Given the description of an element on the screen output the (x, y) to click on. 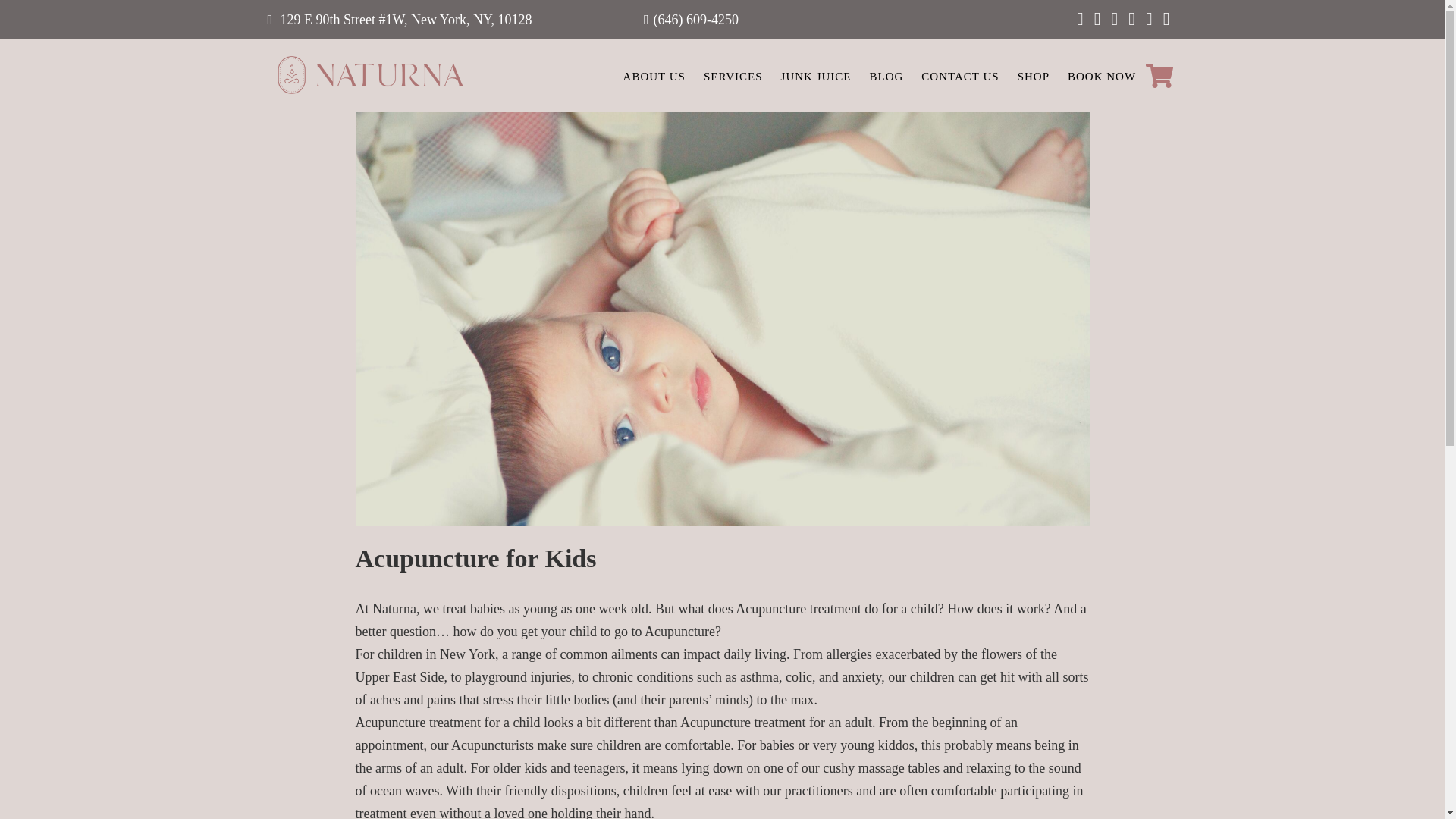
CONTACT US (959, 75)
SERVICES (732, 75)
Cart (1160, 75)
JUNK JUICE (815, 75)
ABOUT US (654, 75)
